Given the description of an element on the screen output the (x, y) to click on. 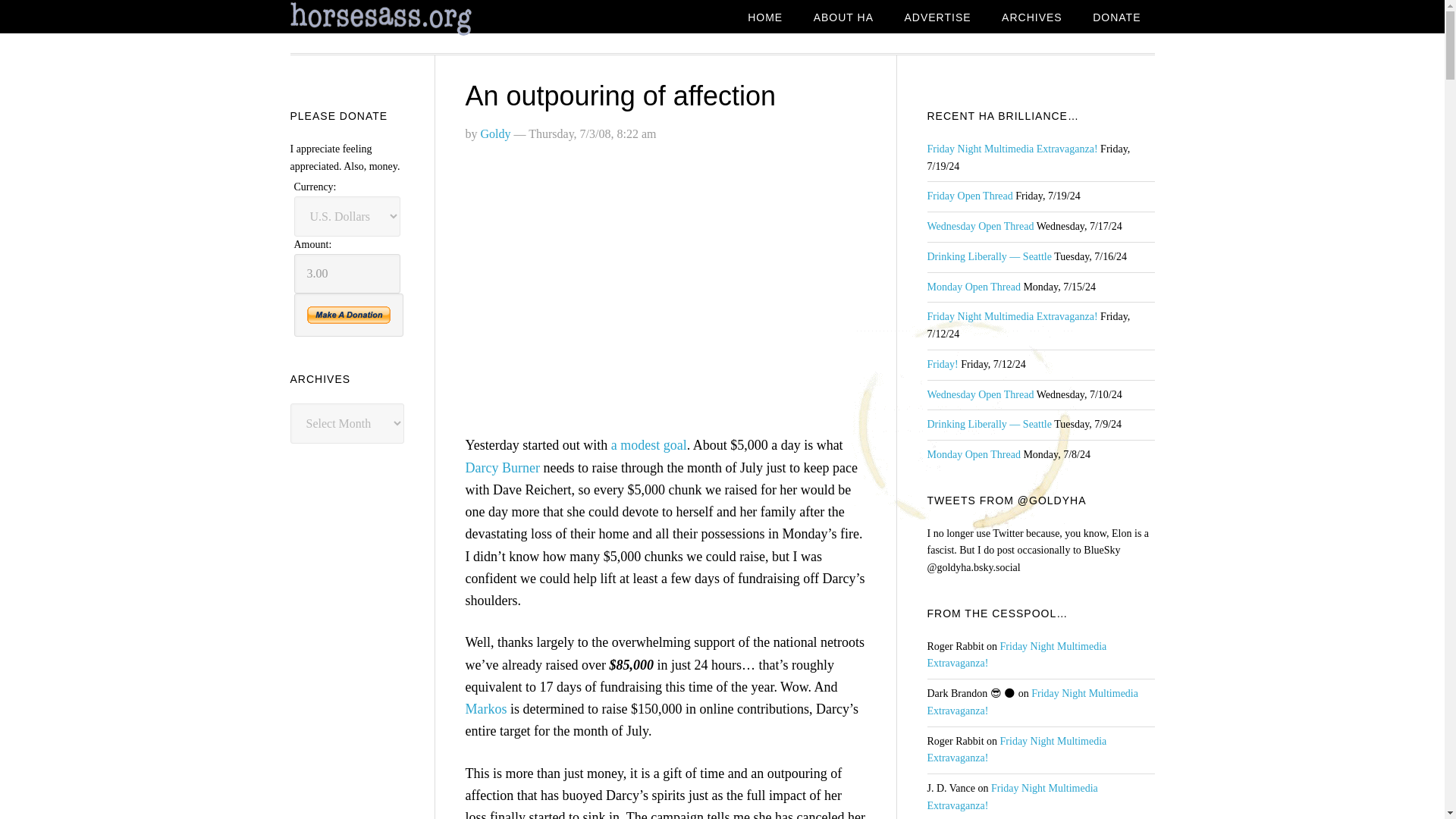
3.00 (347, 273)
HORSESASS.ORG (410, 19)
ABOUT HA (842, 17)
ARCHIVES (1031, 17)
DONATE (1116, 17)
The amount you wish to donate (347, 273)
Markos (485, 708)
ADVERTISE (936, 17)
a modest goal (649, 444)
Darcy Burner (502, 467)
Goldy (495, 133)
HOME (764, 17)
